Given the description of an element on the screen output the (x, y) to click on. 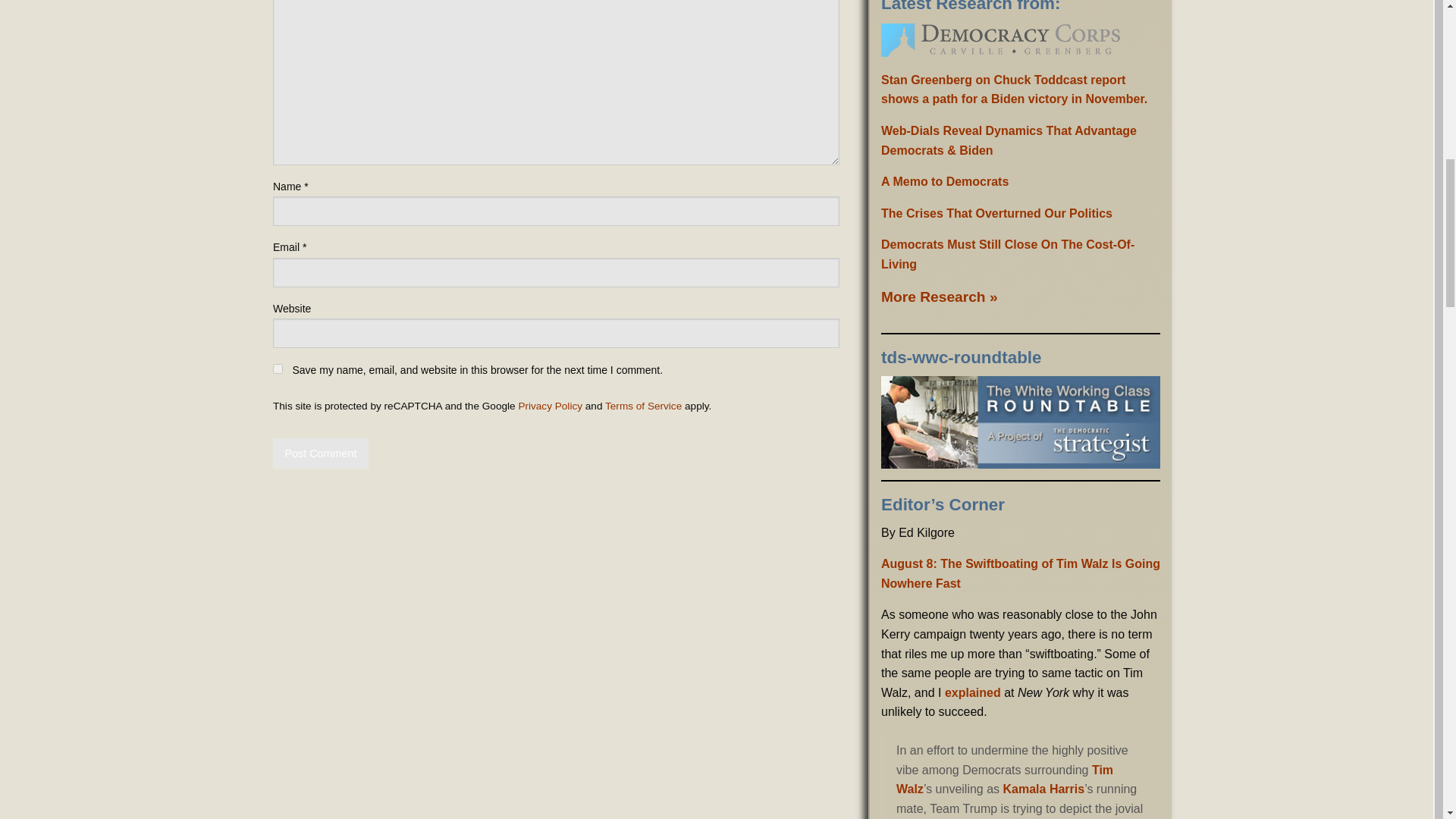
A Memo to Democrats (944, 181)
Post Comment (320, 453)
Kamala Harris (1043, 788)
Tim Walz (1004, 778)
August 8: The Swiftboating of Tim Walz Is Going Nowhere Fast (1020, 573)
The Crises That Overturned Our Politics (996, 213)
Post Comment (320, 453)
Terms of Service (643, 405)
Democrats Must Still Close On The Cost-Of-Living (1007, 254)
